Given the description of an element on the screen output the (x, y) to click on. 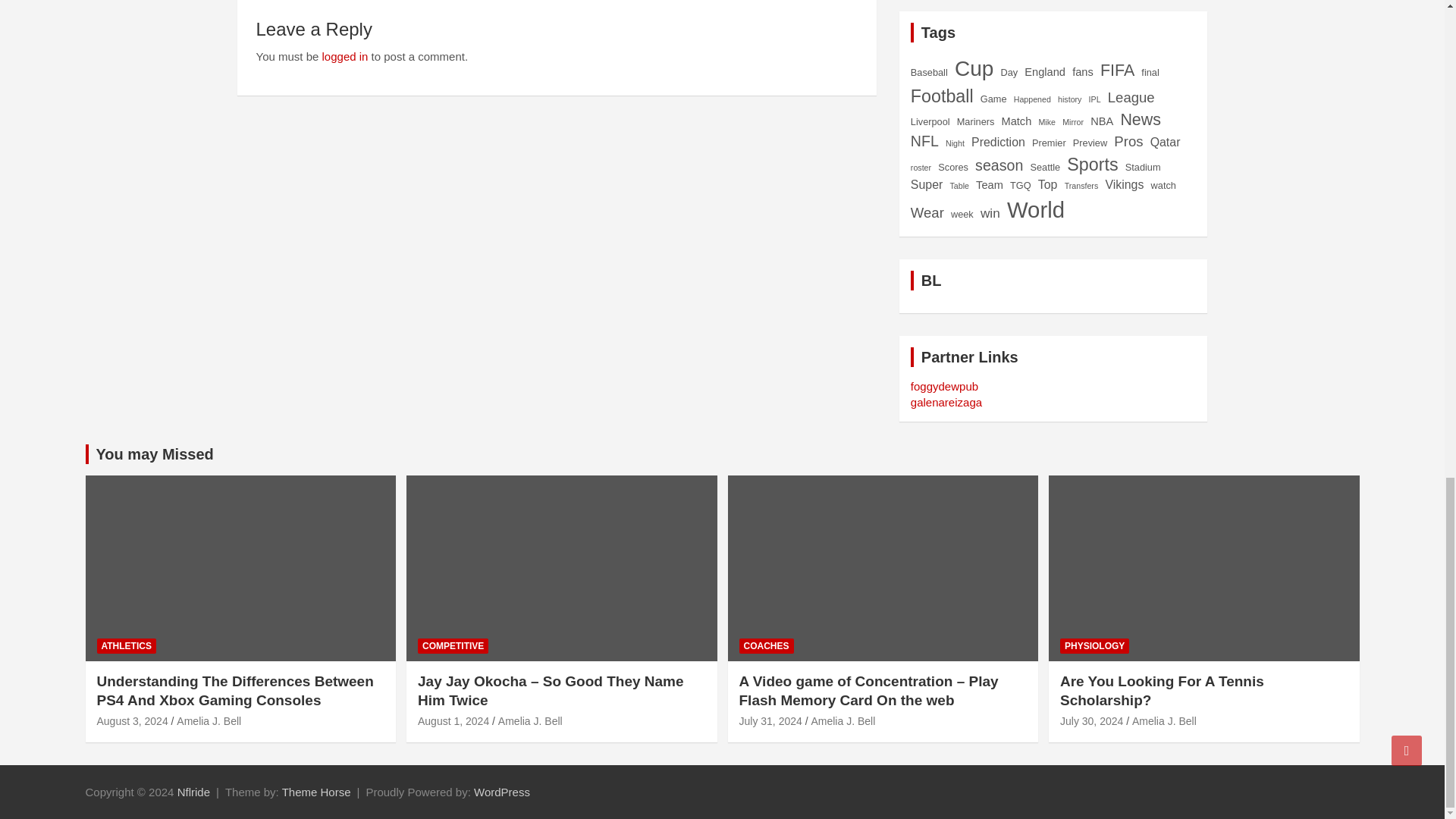
Theme Horse (316, 791)
Nflride (193, 791)
Baseball (929, 71)
logged in (344, 56)
Are You Looking For A Tennis Scholarship? (1090, 720)
